Given the description of an element on the screen output the (x, y) to click on. 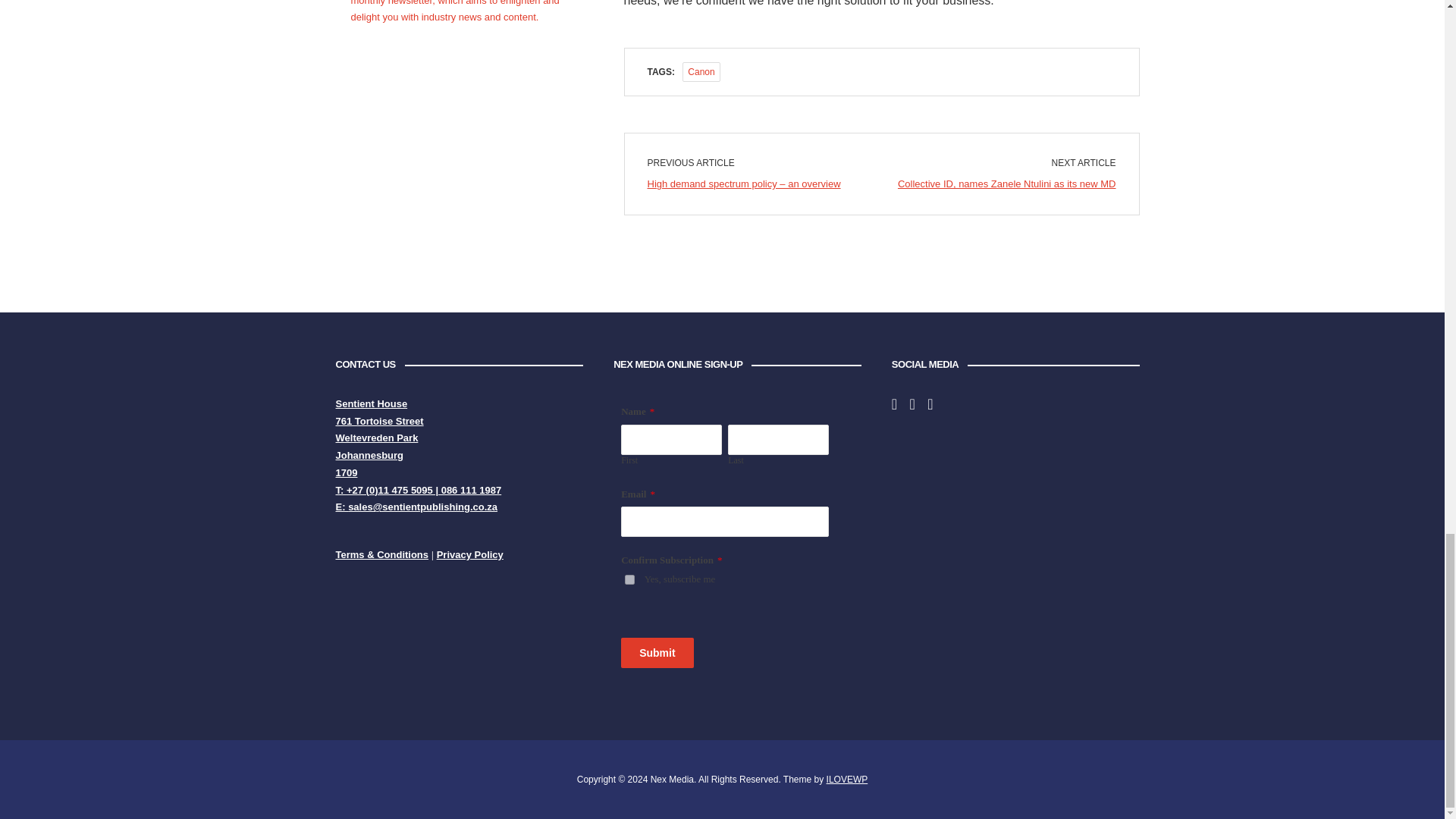
Collective ID, names Zanele Ntulini as its new MD (1007, 183)
Canon (700, 71)
Yes, subscribe me (629, 579)
